Given the description of an element on the screen output the (x, y) to click on. 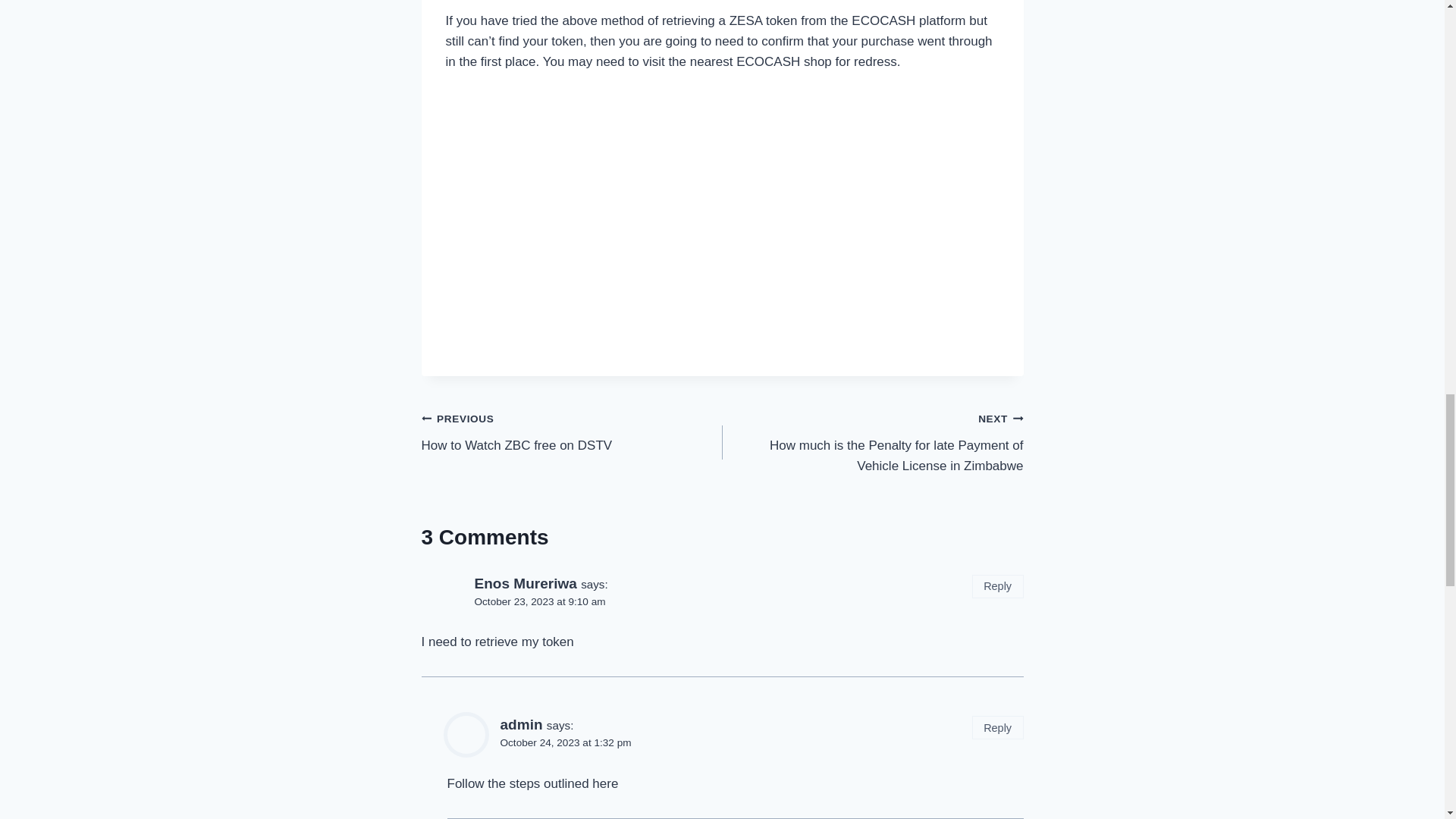
Reply (997, 727)
Reply (572, 431)
October 23, 2023 at 9:10 am (997, 586)
admin (539, 601)
October 24, 2023 at 1:32 pm (521, 724)
